Given the description of an element on the screen output the (x, y) to click on. 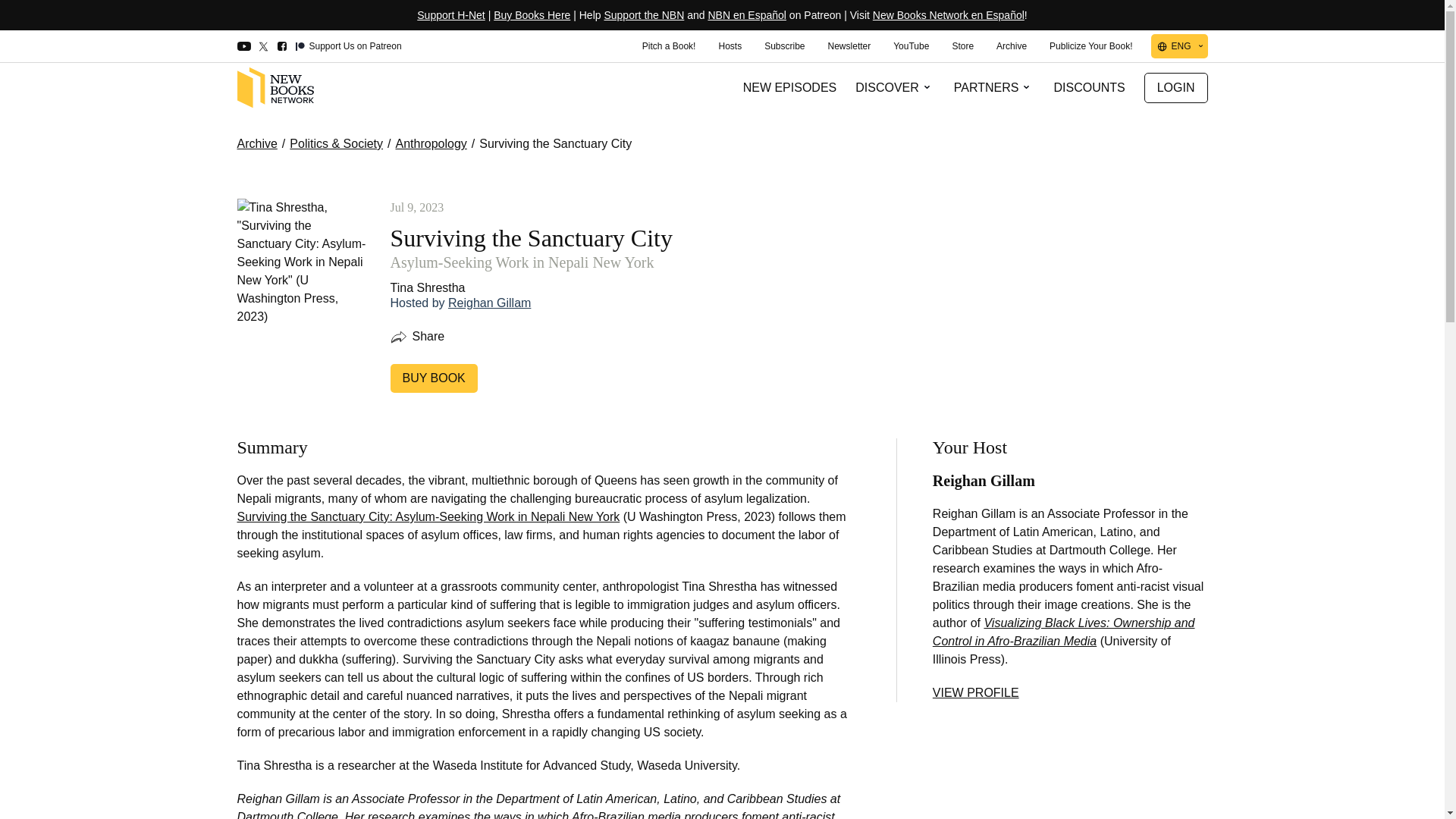
Support H-Net (450, 15)
Support the NBN (644, 15)
Newsletter (849, 46)
Publicize Your Book! (1090, 46)
YouTube (911, 46)
Archive (1011, 46)
Support Us on Patreon (348, 46)
Hosts (729, 46)
Store (961, 46)
NEW EPISODES (789, 87)
